Given the description of an element on the screen output the (x, y) to click on. 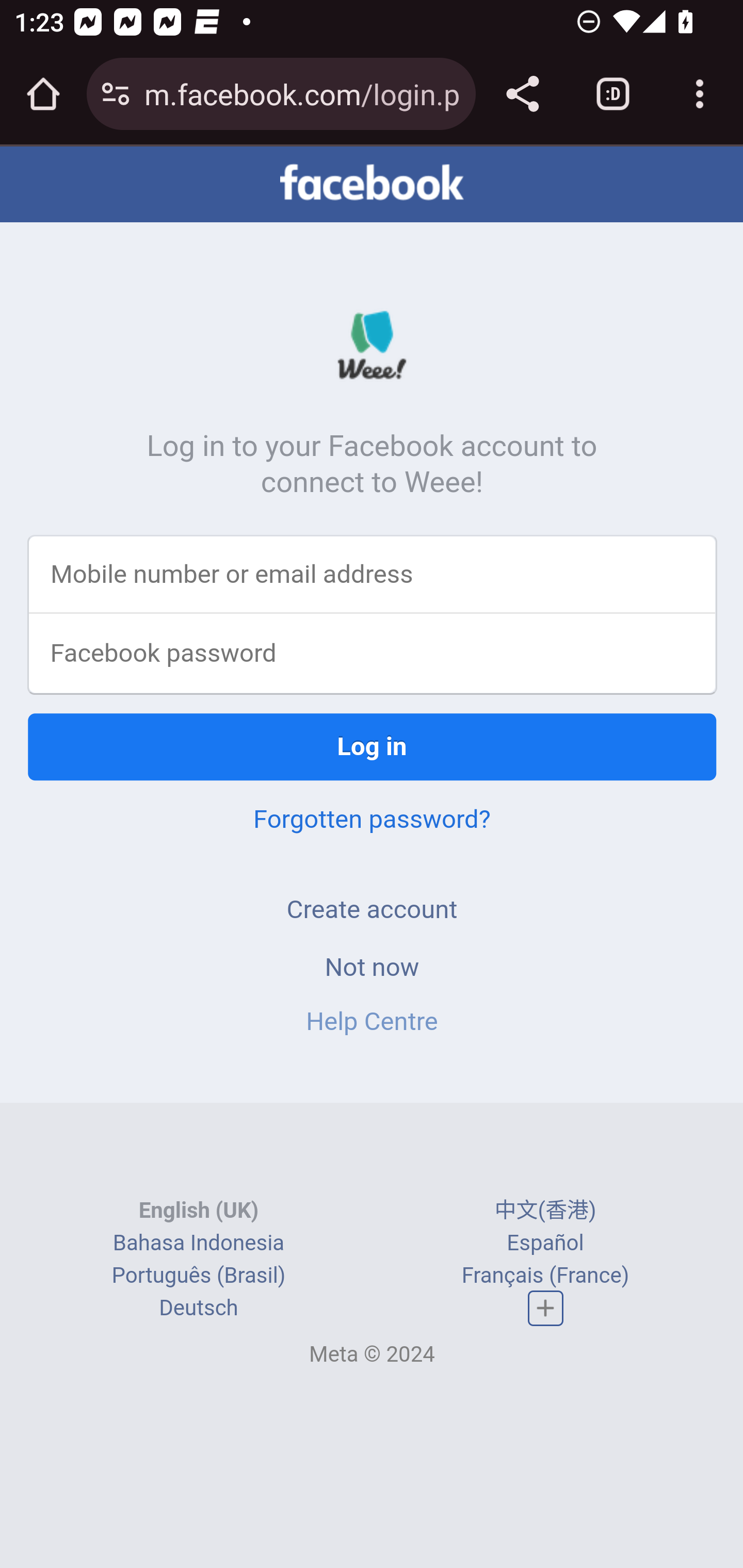
Open the home page (43, 93)
Connection is secure (115, 93)
Share (522, 93)
Switch or close tabs (612, 93)
Customize and control Google Chrome (699, 93)
facebook (371, 183)
Log in (372, 747)
Forgotten password? (371, 819)
Create account (371, 910)
Not now (371, 968)
Help Centre (371, 1022)
中文(香港) (544, 1211)
Bahasa Indonesia (198, 1243)
Español (545, 1243)
Português (Brasil) (197, 1276)
Français (France) (544, 1276)
Complete list of languages (545, 1309)
Deutsch (198, 1309)
